Given the description of an element on the screen output the (x, y) to click on. 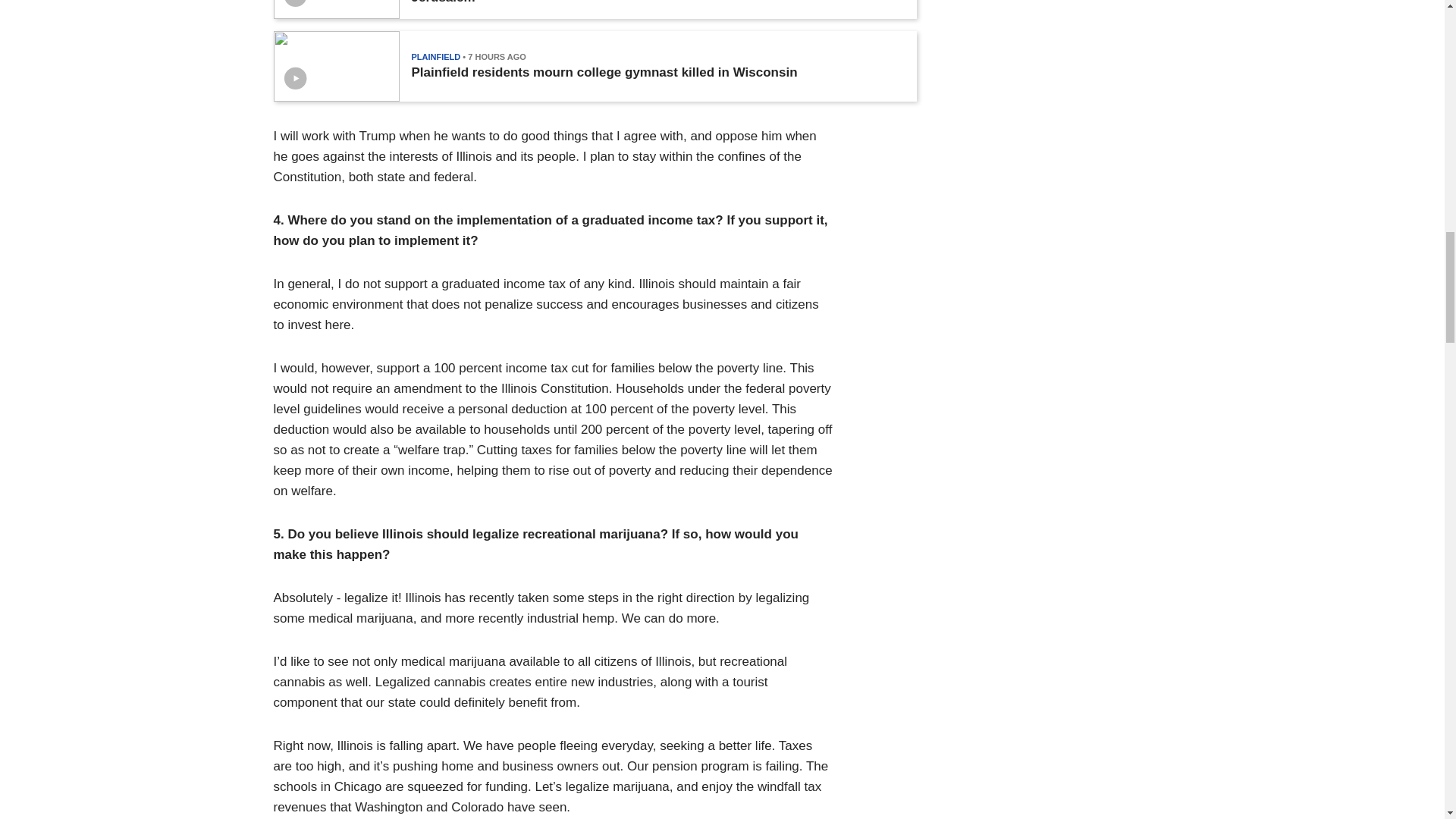
PLAINFIELD (435, 56)
